Given the description of an element on the screen output the (x, y) to click on. 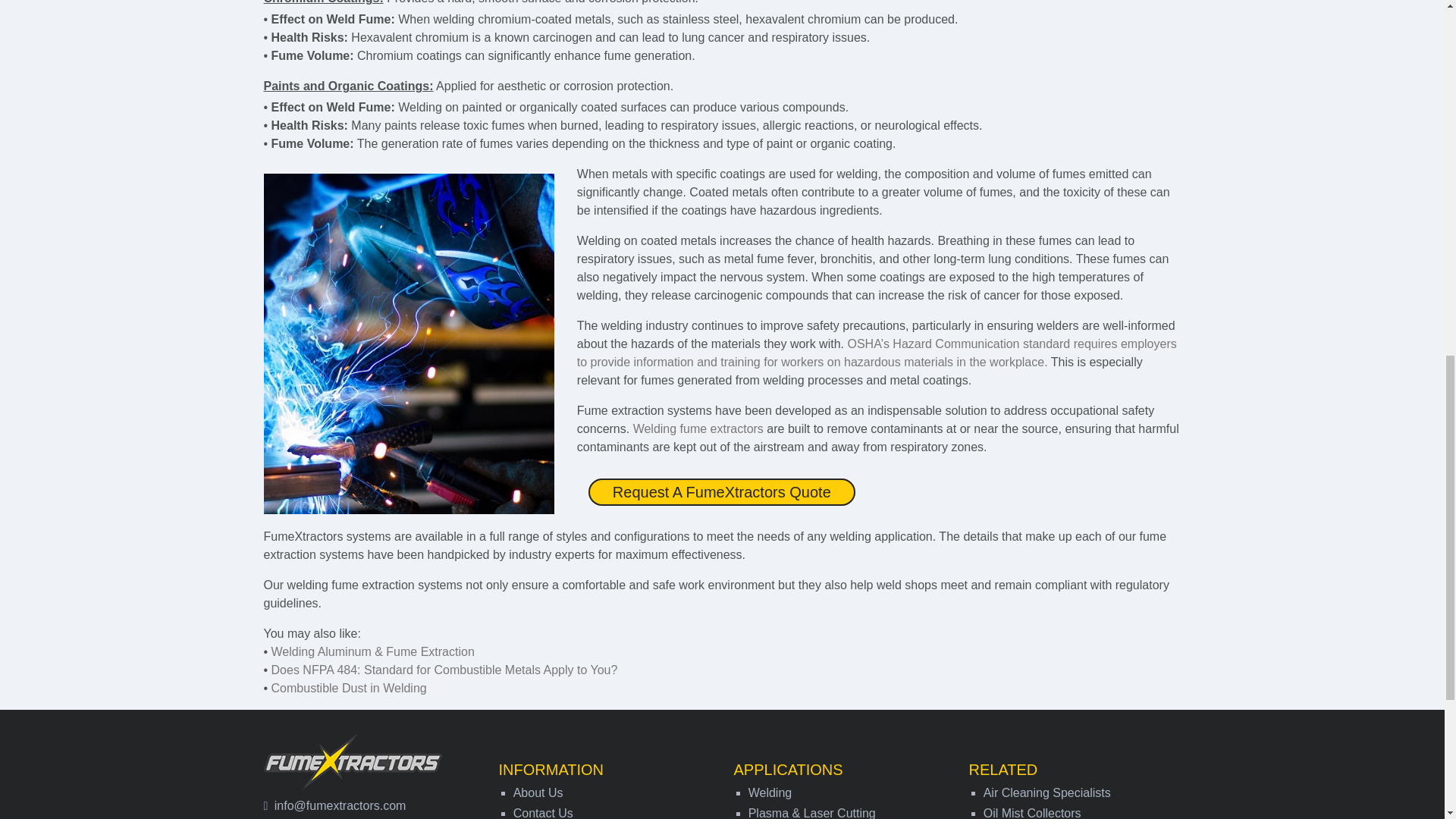
Welding fume extractors (697, 428)
Combustible Dust in Welding (348, 687)
Request A FumeXtractors Quote (722, 492)
Does NFPA 484: Standard for Combustible Metals Apply to You? (443, 669)
